Given the description of an element on the screen output the (x, y) to click on. 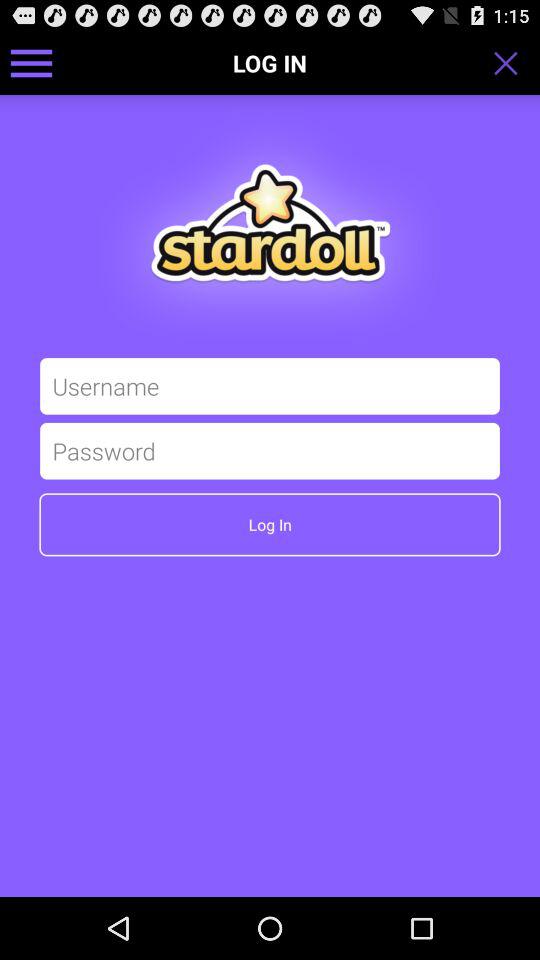
side bar menu (31, 62)
